Given the description of an element on the screen output the (x, y) to click on. 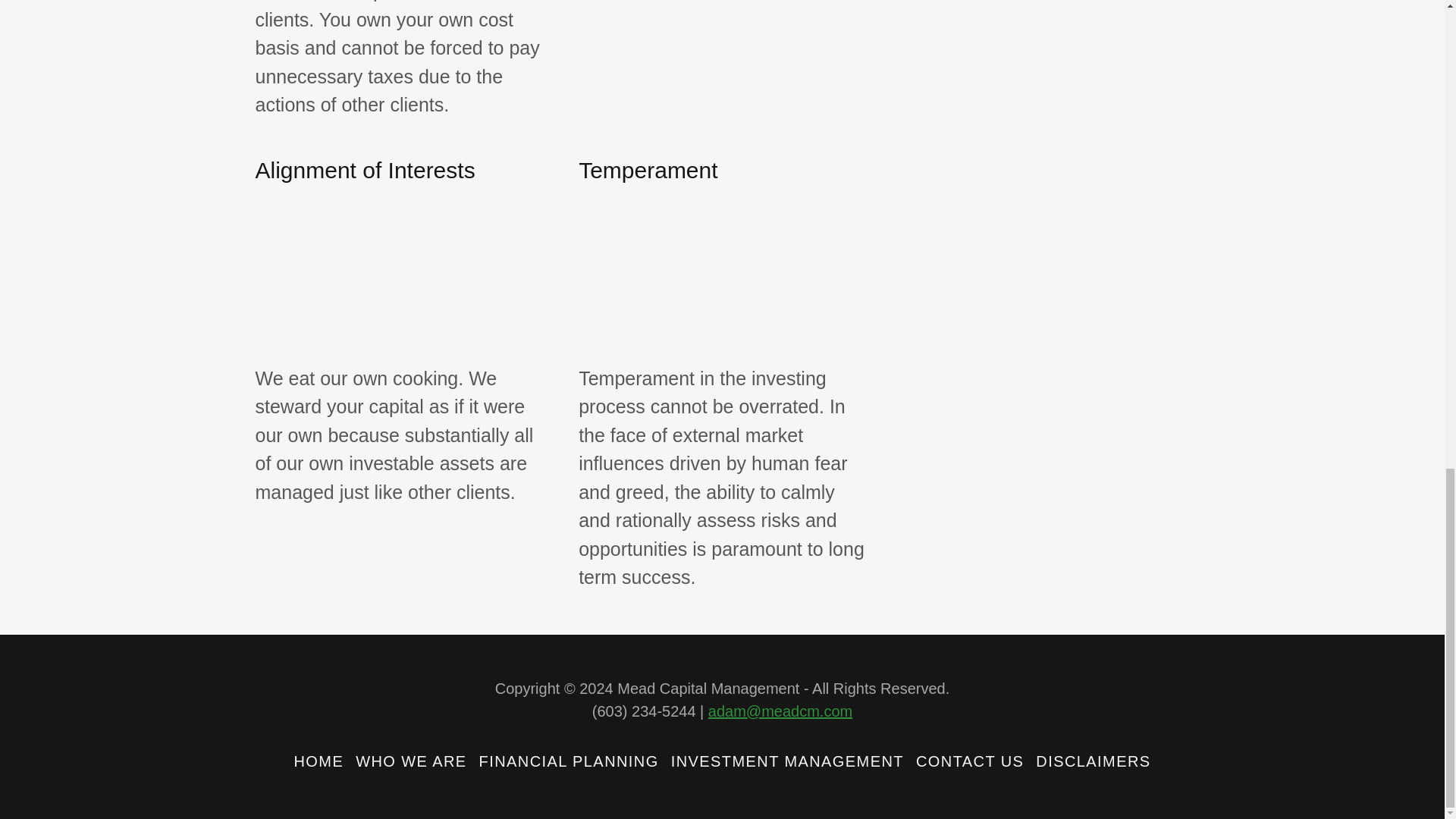
WHO WE ARE (410, 761)
INVESTMENT MANAGEMENT (787, 761)
CONTACT US (969, 761)
FINANCIAL PLANNING (569, 761)
DISCLAIMERS (1092, 761)
HOME (317, 761)
